Given the description of an element on the screen output the (x, y) to click on. 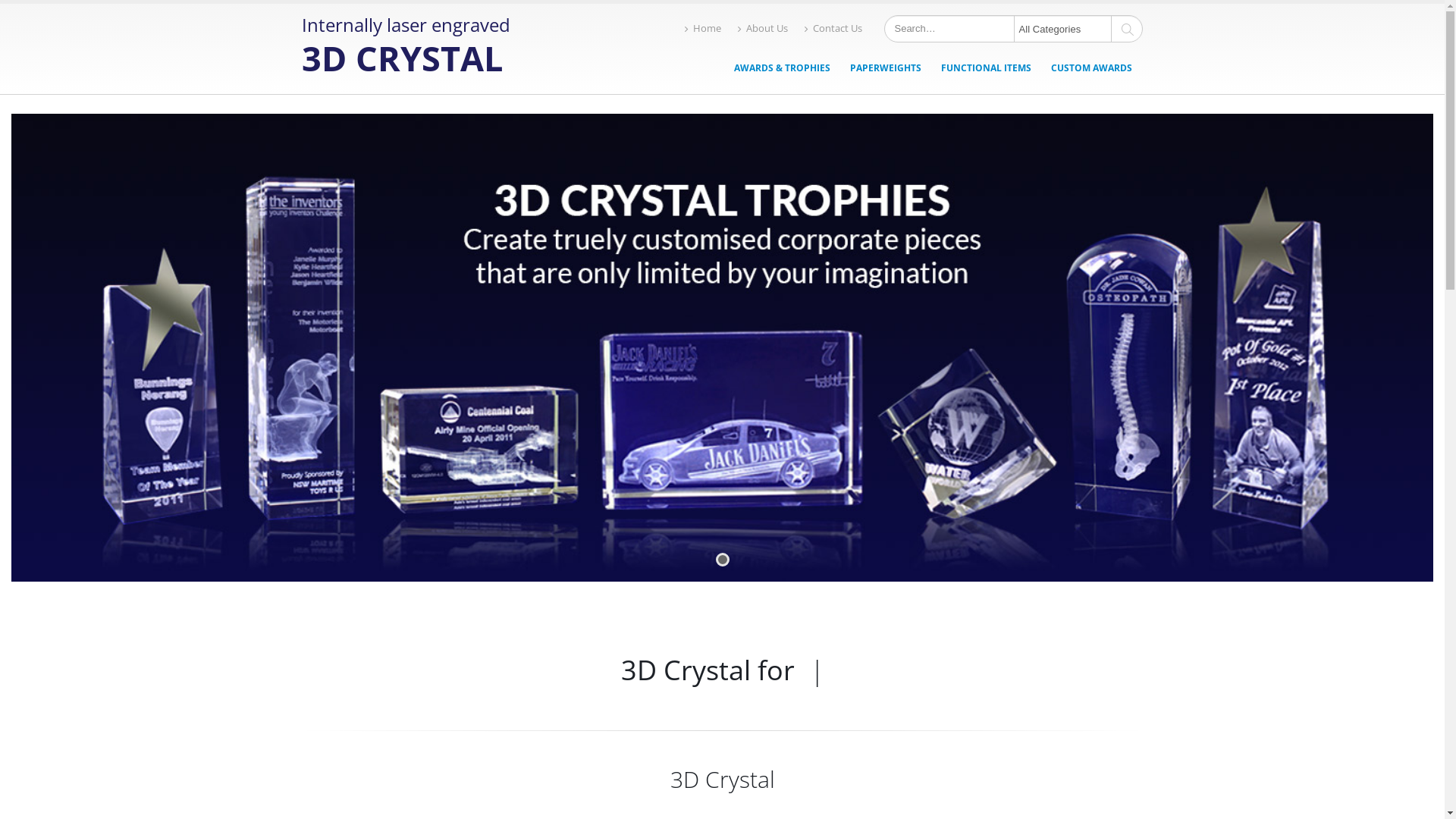
CUSTOM AWARDS Element type: text (1091, 67)
PAPERWEIGHTS Element type: text (885, 67)
Contact Us Element type: text (833, 28)
Search Element type: hover (1127, 28)
Internally laser engraved
3D CRYSTAL Element type: text (405, 48)
About Us Element type: text (762, 28)
FUNCTIONAL ITEMS Element type: text (985, 67)
Home Element type: text (702, 28)
AWARDS & TROPHIES Element type: text (781, 67)
